Given the description of an element on the screen output the (x, y) to click on. 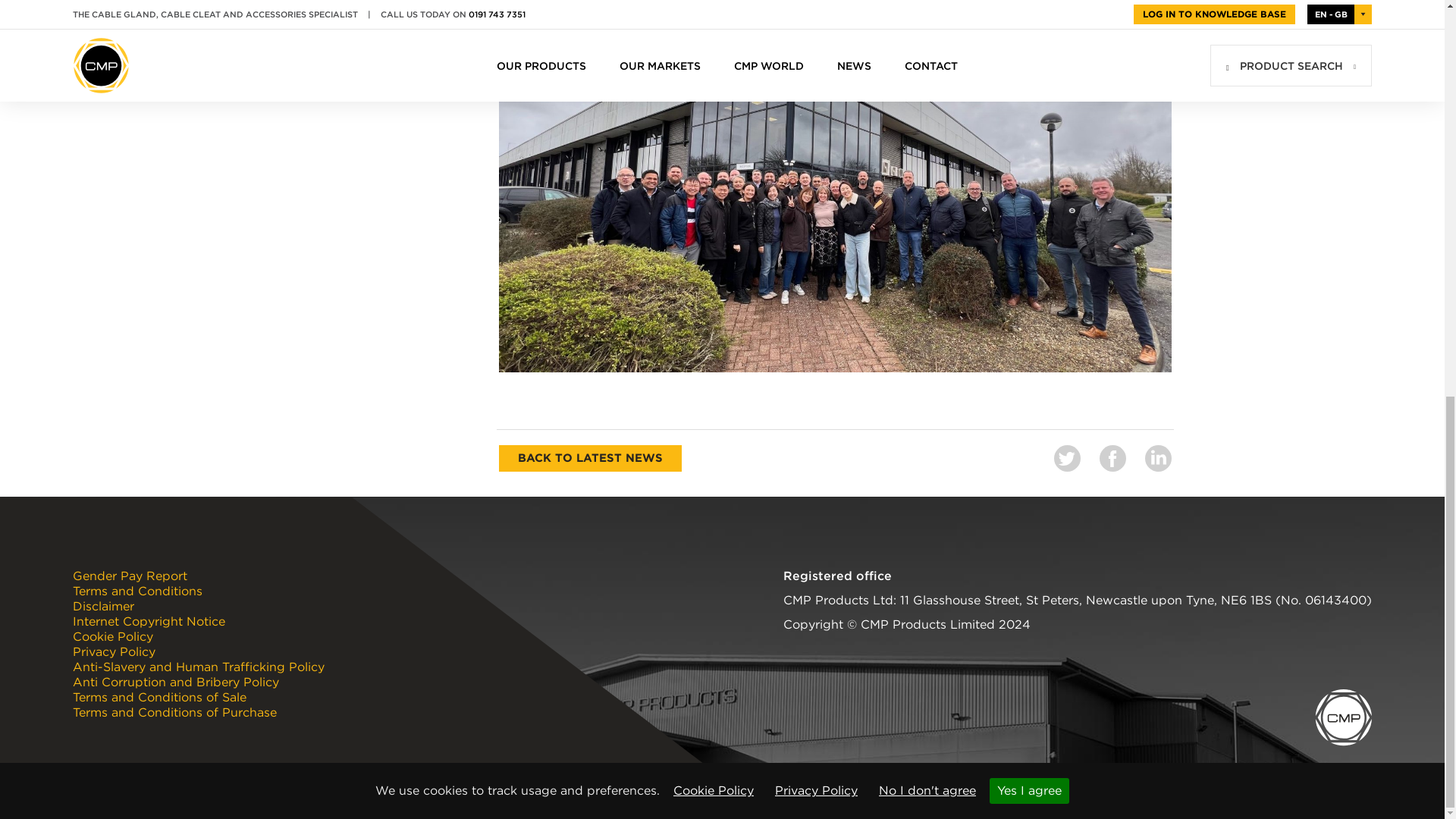
No I don't agree (927, 22)
Privacy Policy (815, 22)
Cookie Policy (713, 22)
Yes I agree (1029, 22)
